Given the description of an element on the screen output the (x, y) to click on. 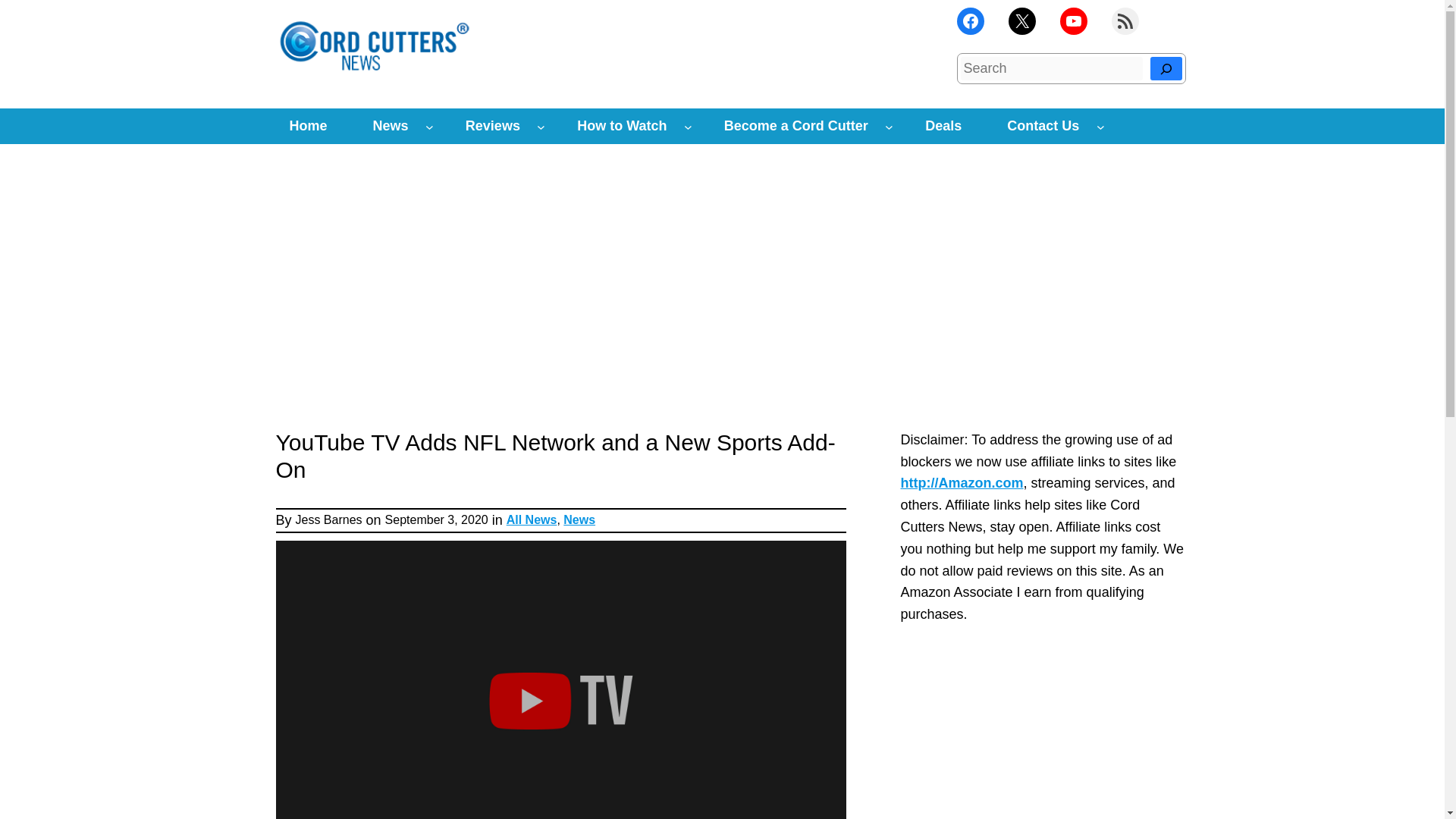
Facebook (970, 21)
X (1022, 21)
RSS Feed (1125, 21)
News (390, 126)
YouTube (1073, 21)
Home (308, 126)
Reviews (492, 126)
